Given the description of an element on the screen output the (x, y) to click on. 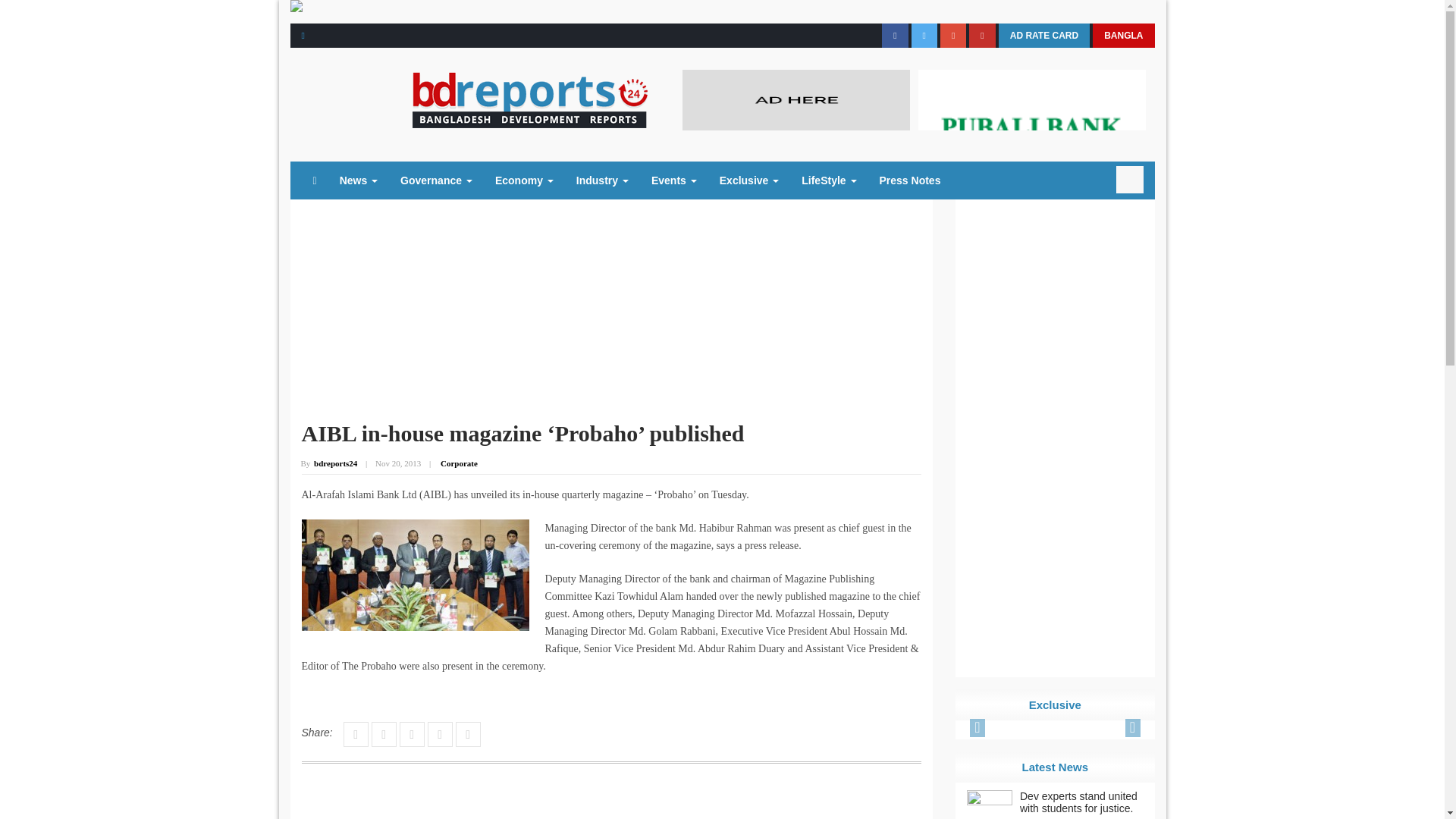
Governance (435, 180)
search (1129, 179)
Economy (523, 180)
Governance (435, 180)
Events (673, 180)
Exclusive (748, 180)
AD RATE CARD (1043, 35)
News (358, 180)
Economy (523, 180)
Industry (602, 180)
BANGLA (1123, 35)
News (358, 180)
